Given the description of an element on the screen output the (x, y) to click on. 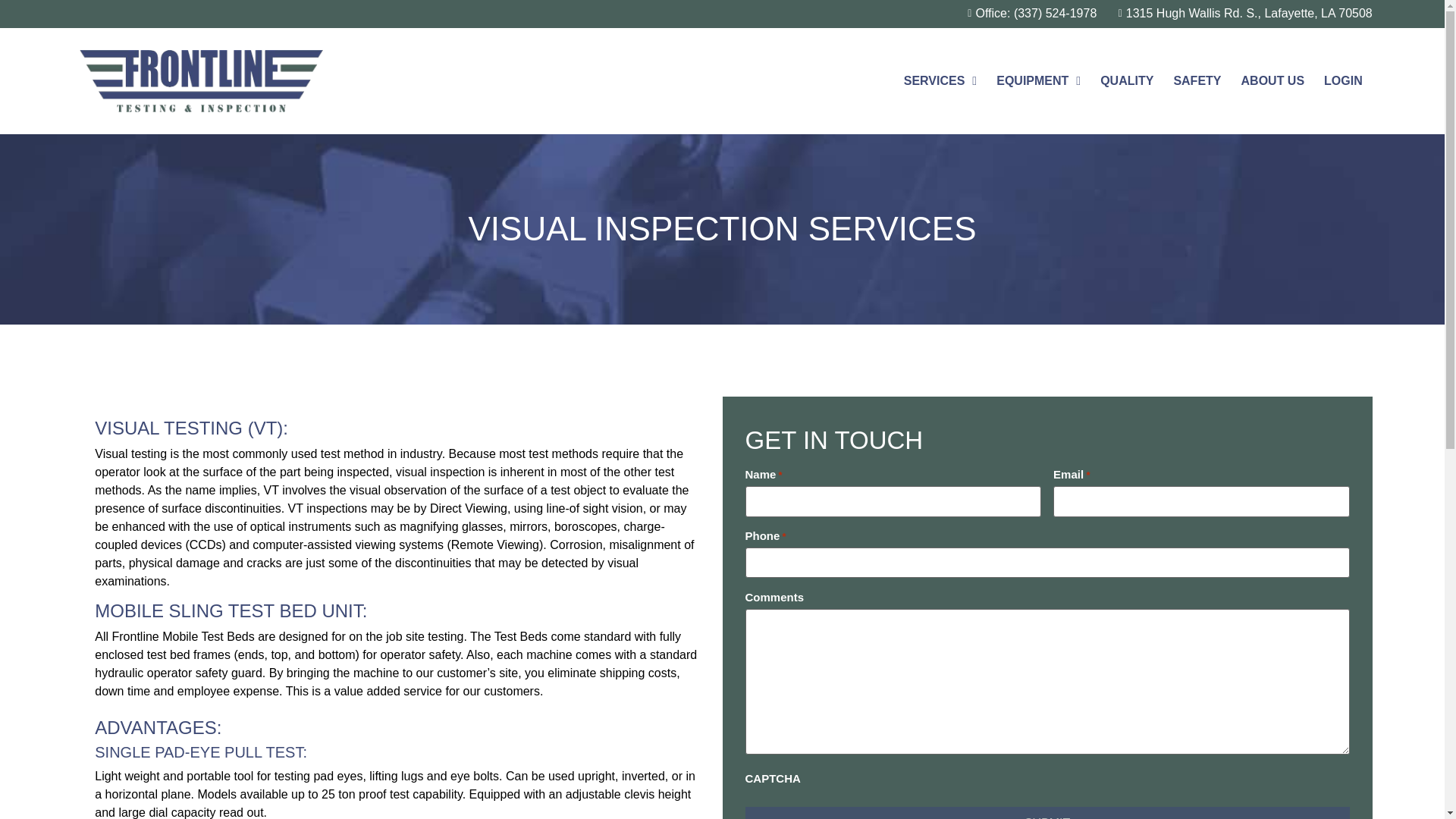
SERVICES (940, 80)
Submit (1046, 812)
SAFETY (1196, 80)
1315 Hugh Wallis Rd. S., Lafayette, LA 70508 (1239, 13)
EQUIPMENT (1038, 80)
LOGIN (1343, 80)
ABOUT US (1272, 80)
QUALITY (1126, 80)
Submit (1046, 812)
